Given the description of an element on the screen output the (x, y) to click on. 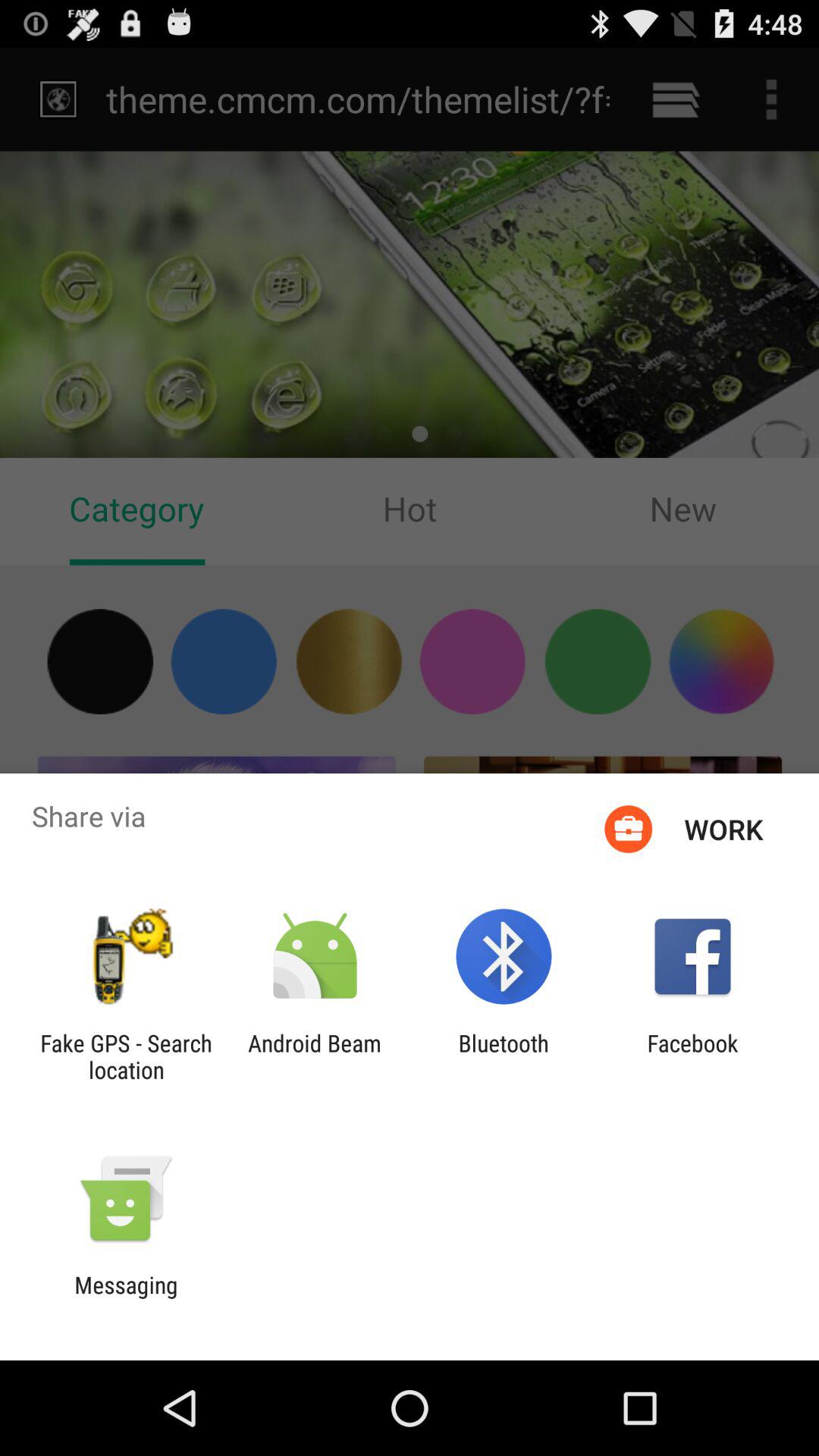
turn on icon next to android beam (125, 1056)
